Given the description of an element on the screen output the (x, y) to click on. 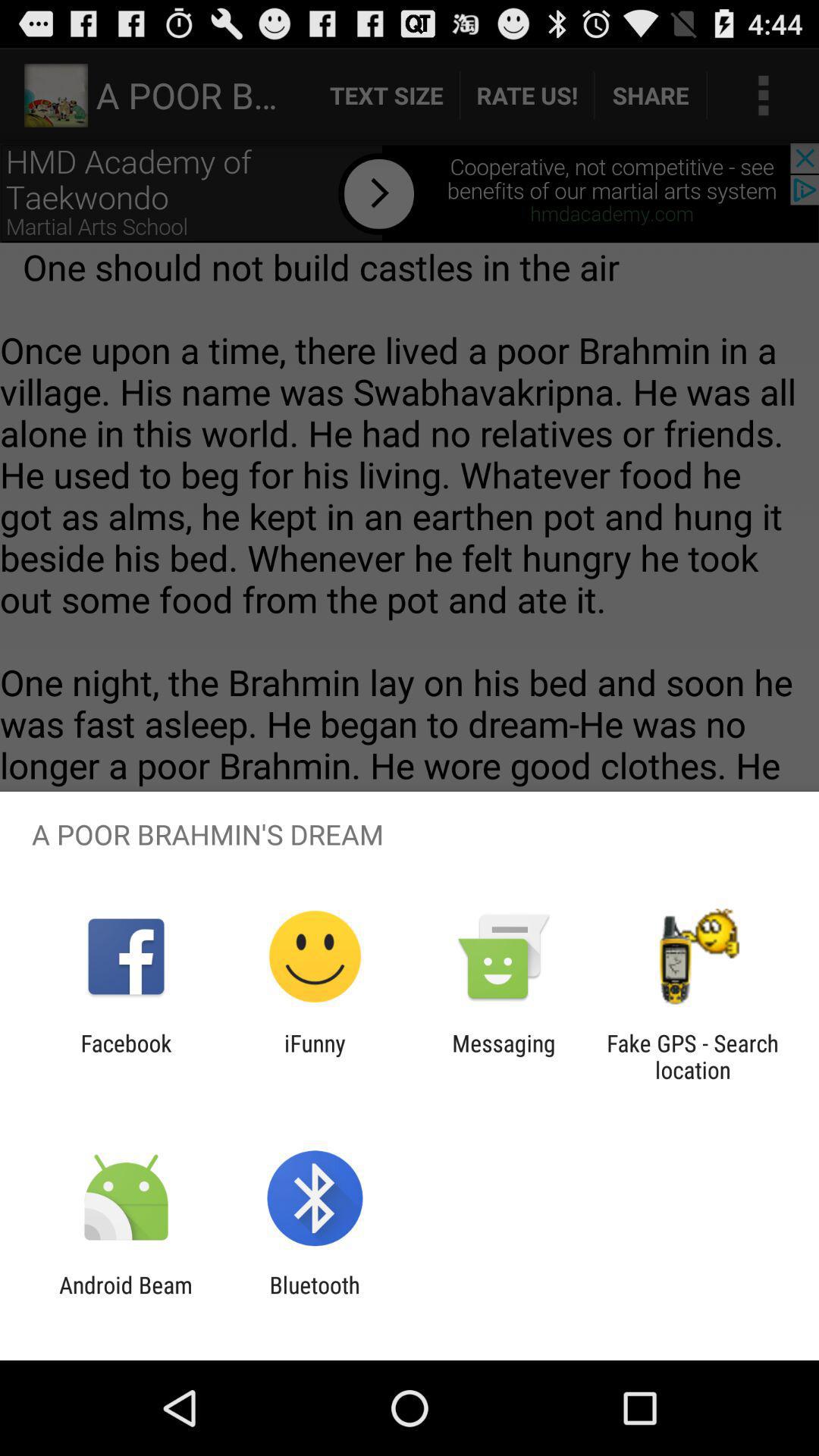
choose the bluetooth icon (314, 1298)
